Given the description of an element on the screen output the (x, y) to click on. 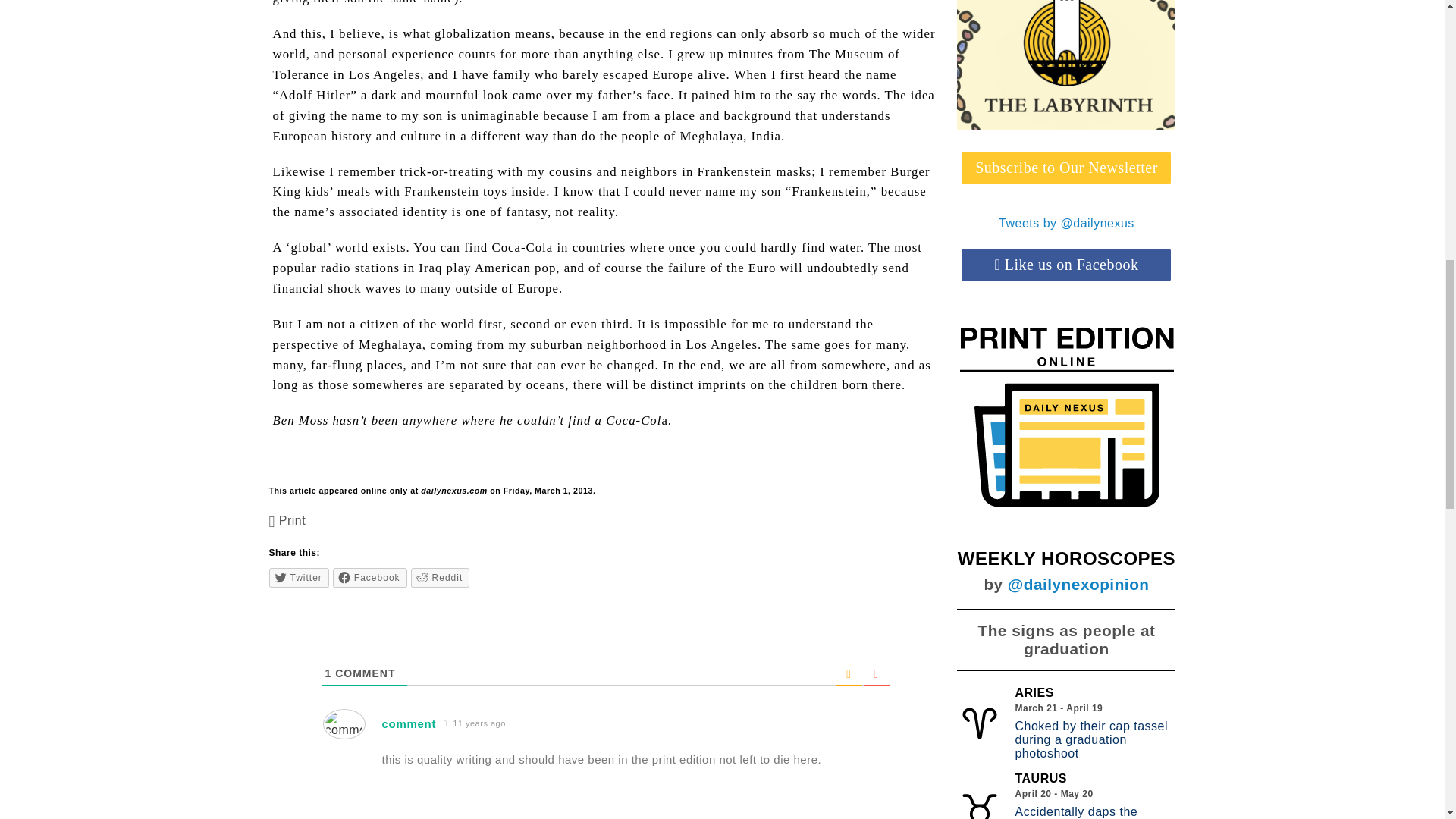
Click to share on Twitter (299, 578)
Click to share on Reddit (440, 578)
Click to share on Facebook (370, 578)
March 3, 2013 11:22 pm (474, 723)
